Given the description of an element on the screen output the (x, y) to click on. 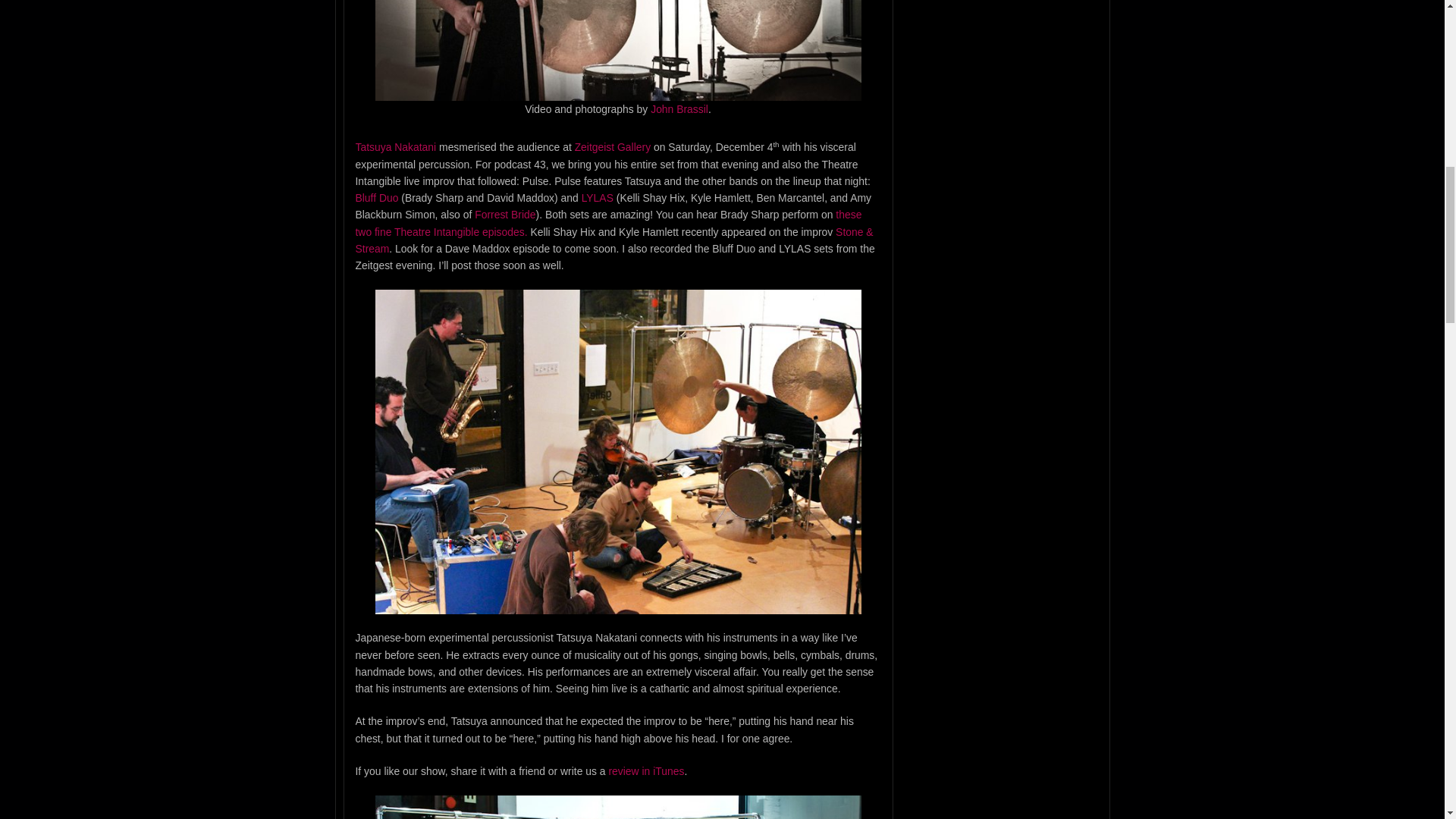
Tatsuya Nakatani (395, 146)
Forrest Bride (504, 214)
review in iTunes (646, 770)
LYLAS (596, 197)
John Brassil (678, 109)
Bluff Duo (376, 197)
these two fine Theatre Intangible episodes. (608, 222)
Tatsuya Nakatani live at Zeitgeist (617, 807)
Zeitgeist Gallery (612, 146)
